Given the description of an element on the screen output the (x, y) to click on. 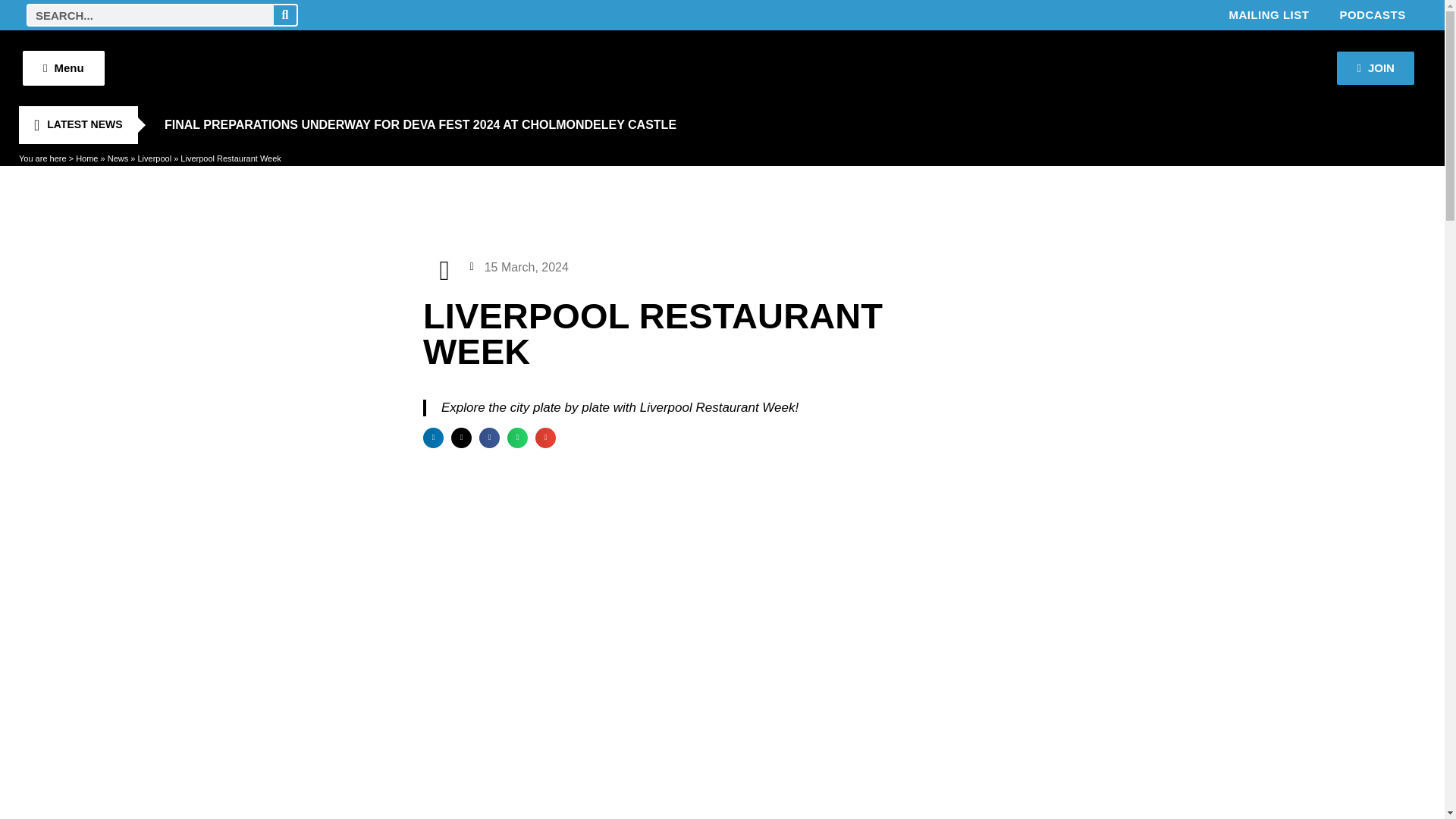
PODCASTS (1372, 15)
MAILING LIST (1267, 15)
JOIN (1374, 68)
Menu (63, 67)
News (118, 157)
Skip to content (11, 31)
Home (86, 157)
LATEST NEWS (77, 125)
15 March, 2024 (519, 267)
Liverpool (153, 157)
